Given the description of an element on the screen output the (x, y) to click on. 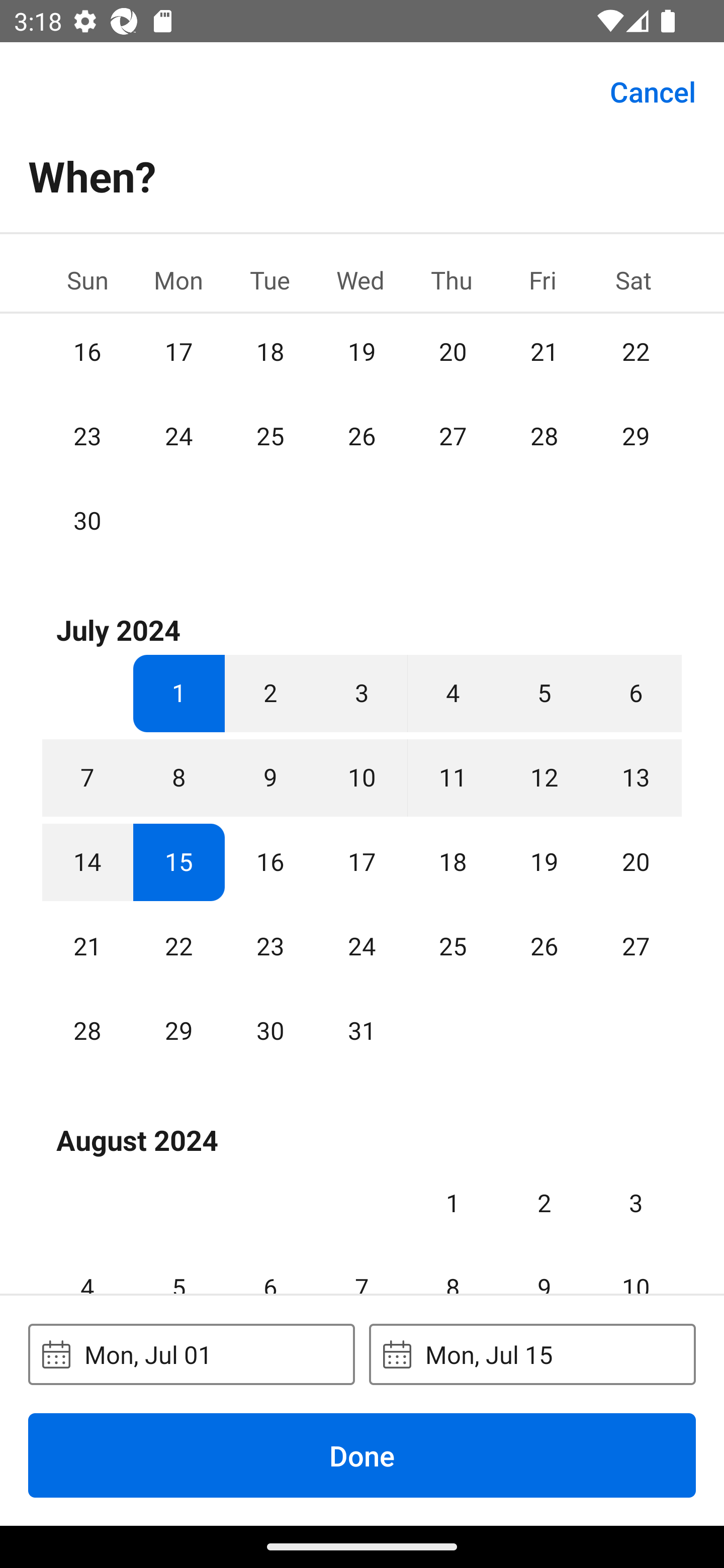
Cancel (652, 90)
Mon, Jul 01 (191, 1353)
Mon, Jul 15 (532, 1353)
Done (361, 1454)
